Given the description of an element on the screen output the (x, y) to click on. 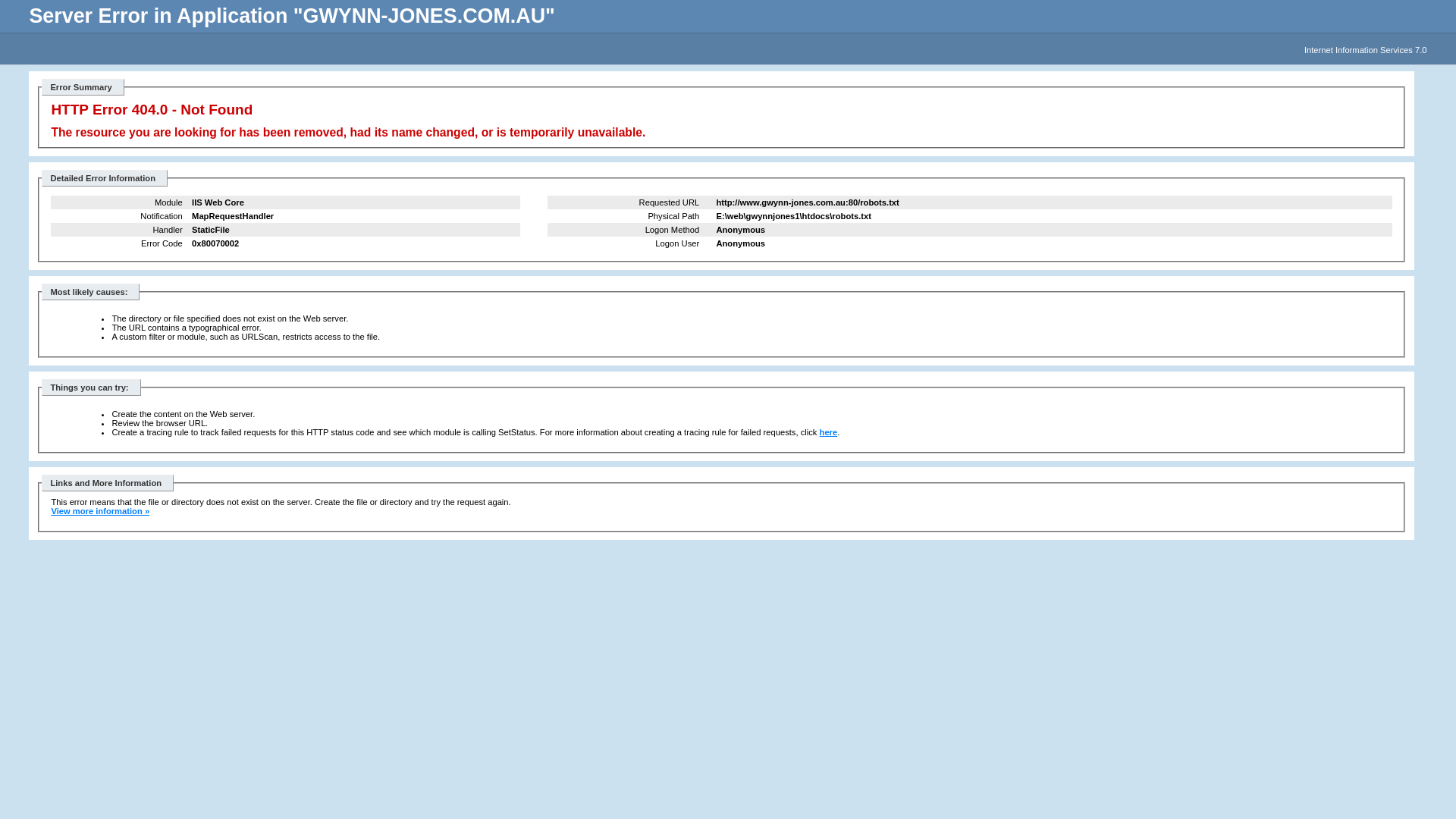
here Element type: text (828, 431)
